Given the description of an element on the screen output the (x, y) to click on. 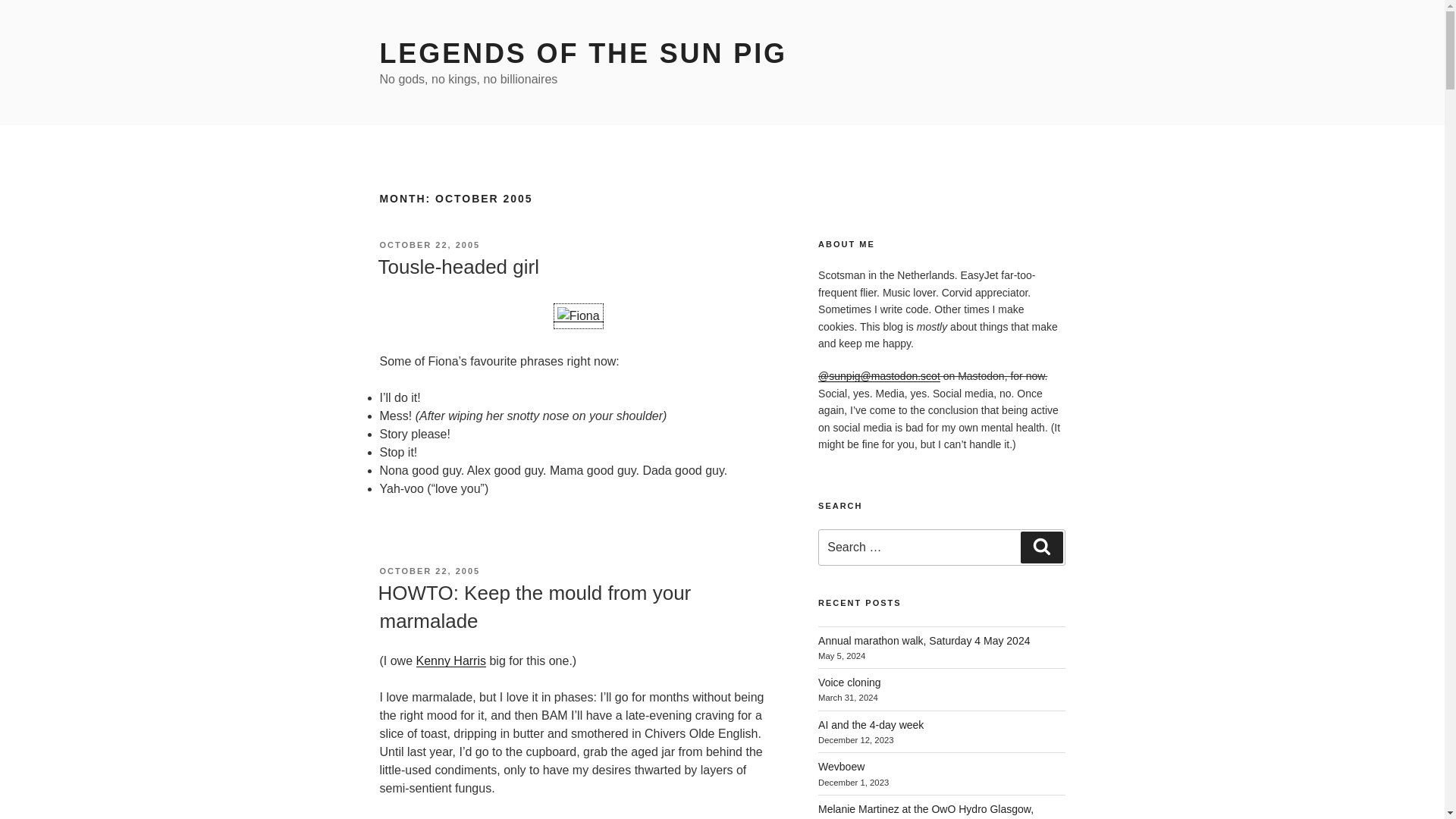
OCTOBER 22, 2005 (429, 570)
OCTOBER 22, 2005 (429, 244)
LEGENDS OF THE SUN PIG (582, 52)
Tousle-headed girl (457, 266)
HOWTO: Keep the mould from your marmalade (533, 606)
AI and the 4-day week (870, 725)
Search (1041, 547)
Annual marathon walk, Saturday 4 May 2024 (923, 640)
Voice cloning (849, 682)
Kenny Harris (451, 660)
